Given the description of an element on the screen output the (x, y) to click on. 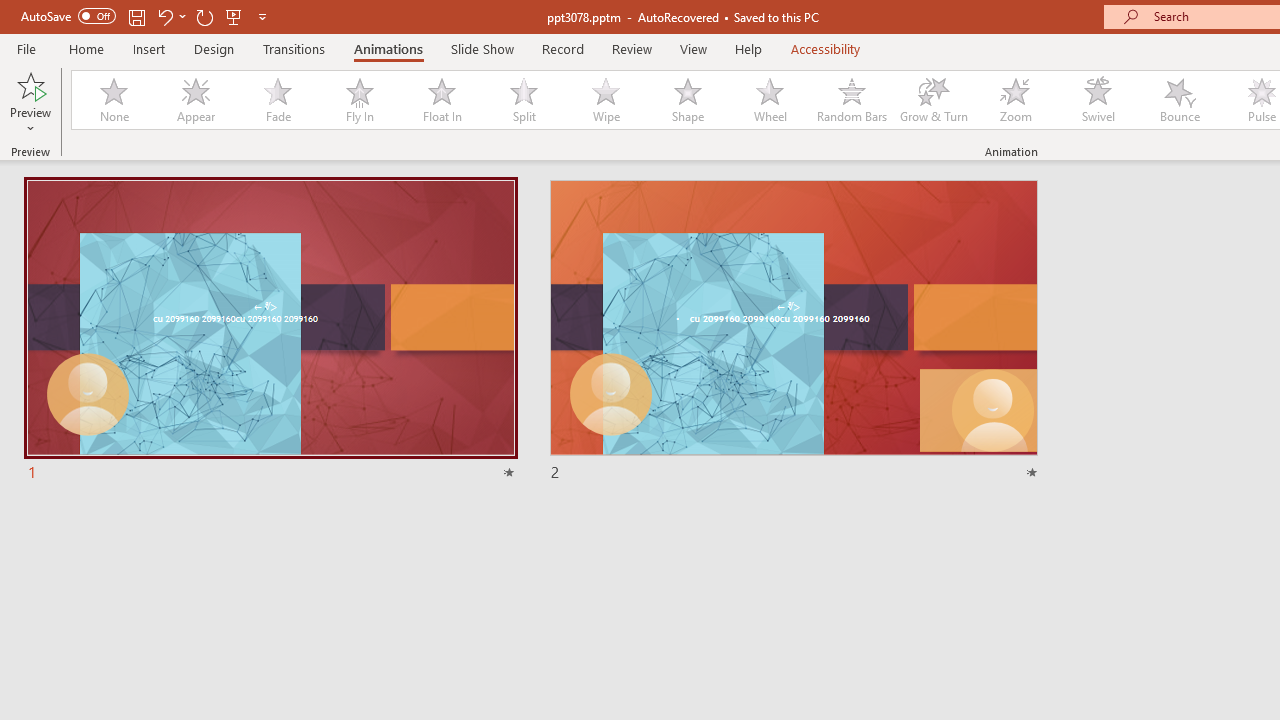
Swivel (1098, 100)
Appear (195, 100)
Bounce (1180, 100)
